Given the description of an element on the screen output the (x, y) to click on. 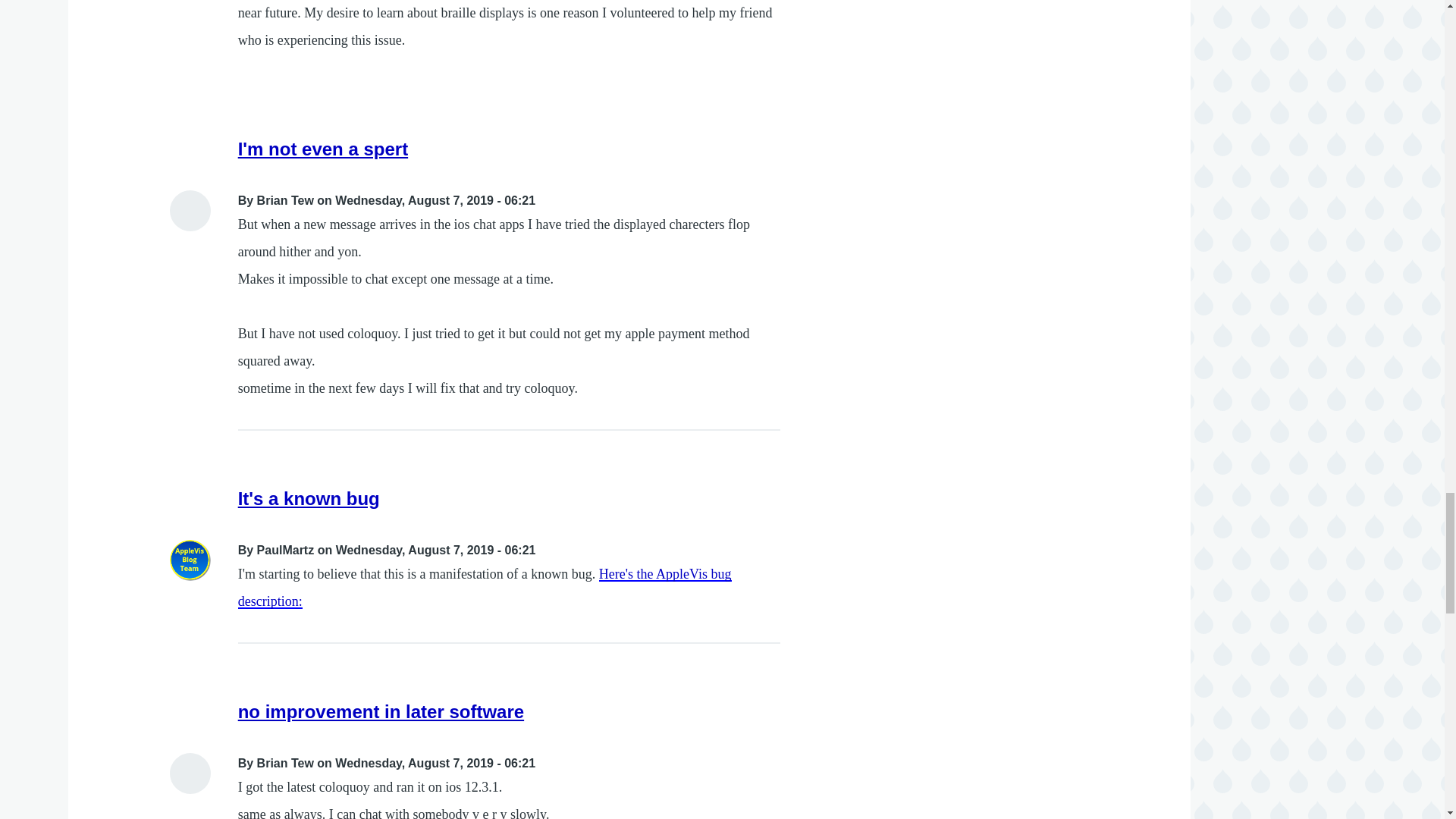
no improvement in later software (381, 711)
Here's the AppleVis bug description: (485, 587)
I'm not even a spert (322, 148)
It's a known bug (309, 498)
